Given the description of an element on the screen output the (x, y) to click on. 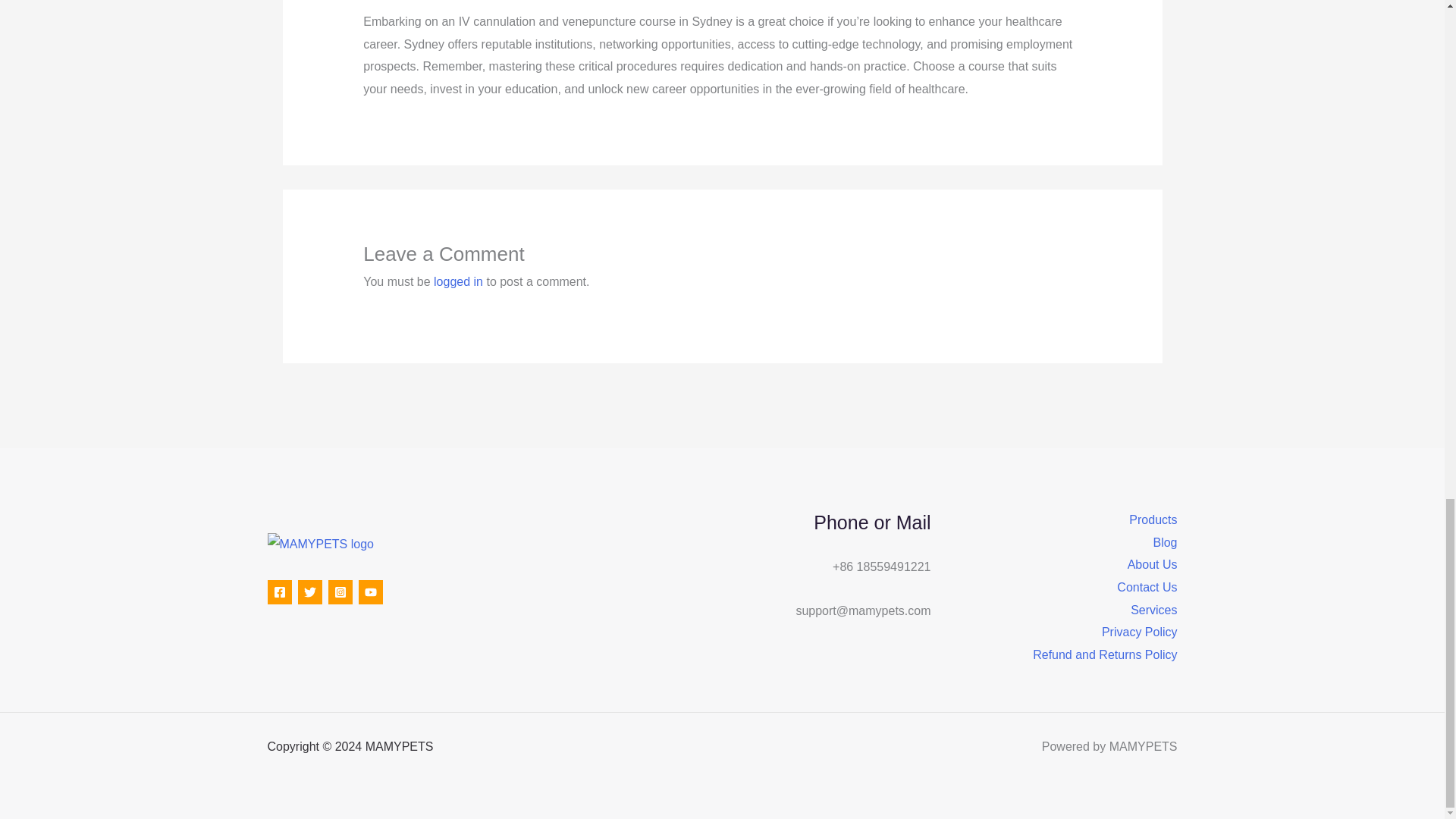
Contact Us (1146, 587)
Services (1153, 609)
Refund and Returns Policy (1104, 654)
Privacy Policy (1139, 631)
Blog (1164, 542)
logged in (458, 281)
About Us (1151, 564)
Products (1152, 519)
